Given the description of an element on the screen output the (x, y) to click on. 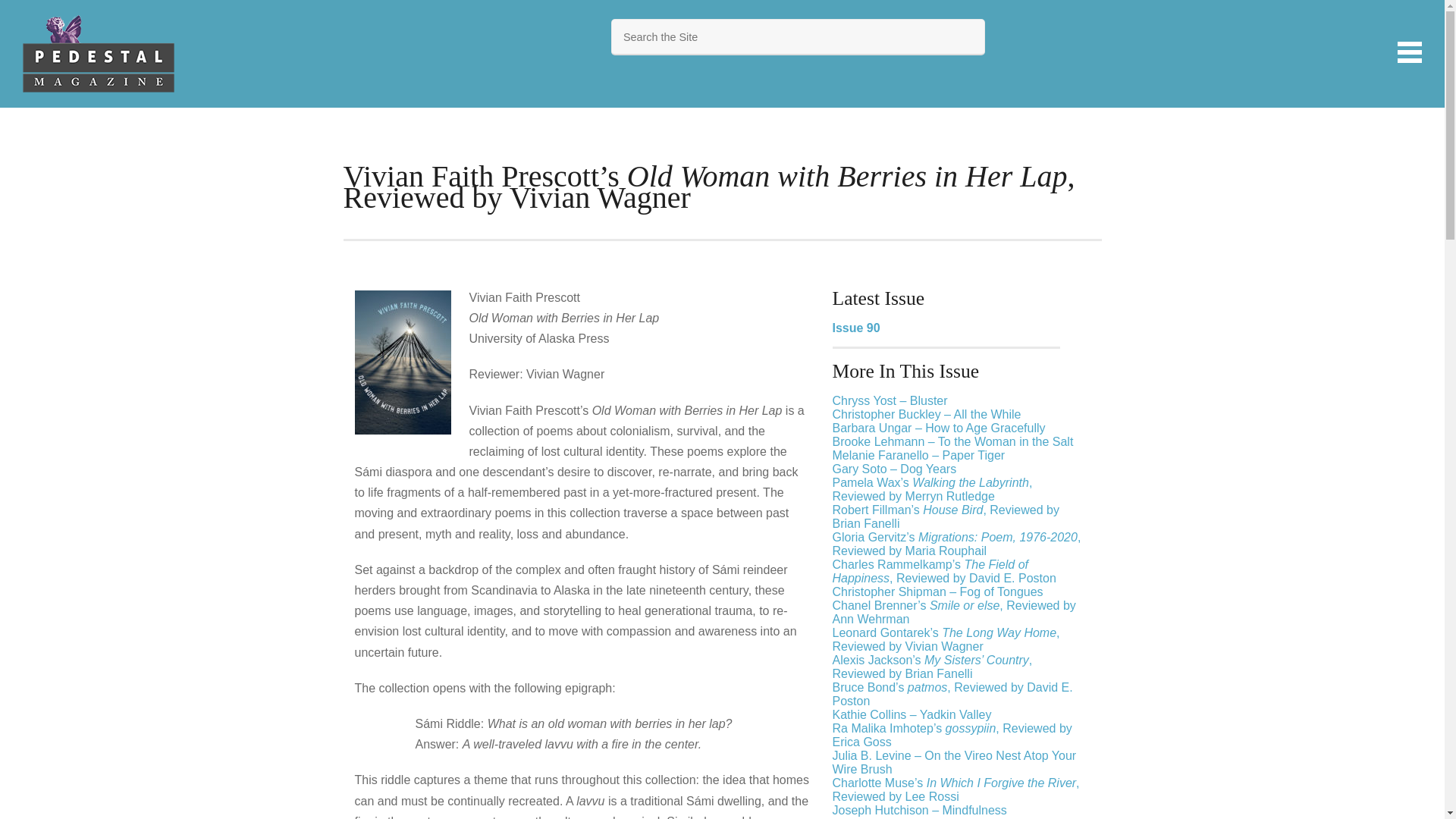
Search for: (798, 36)
Issue 90 (856, 327)
